Given the description of an element on the screen output the (x, y) to click on. 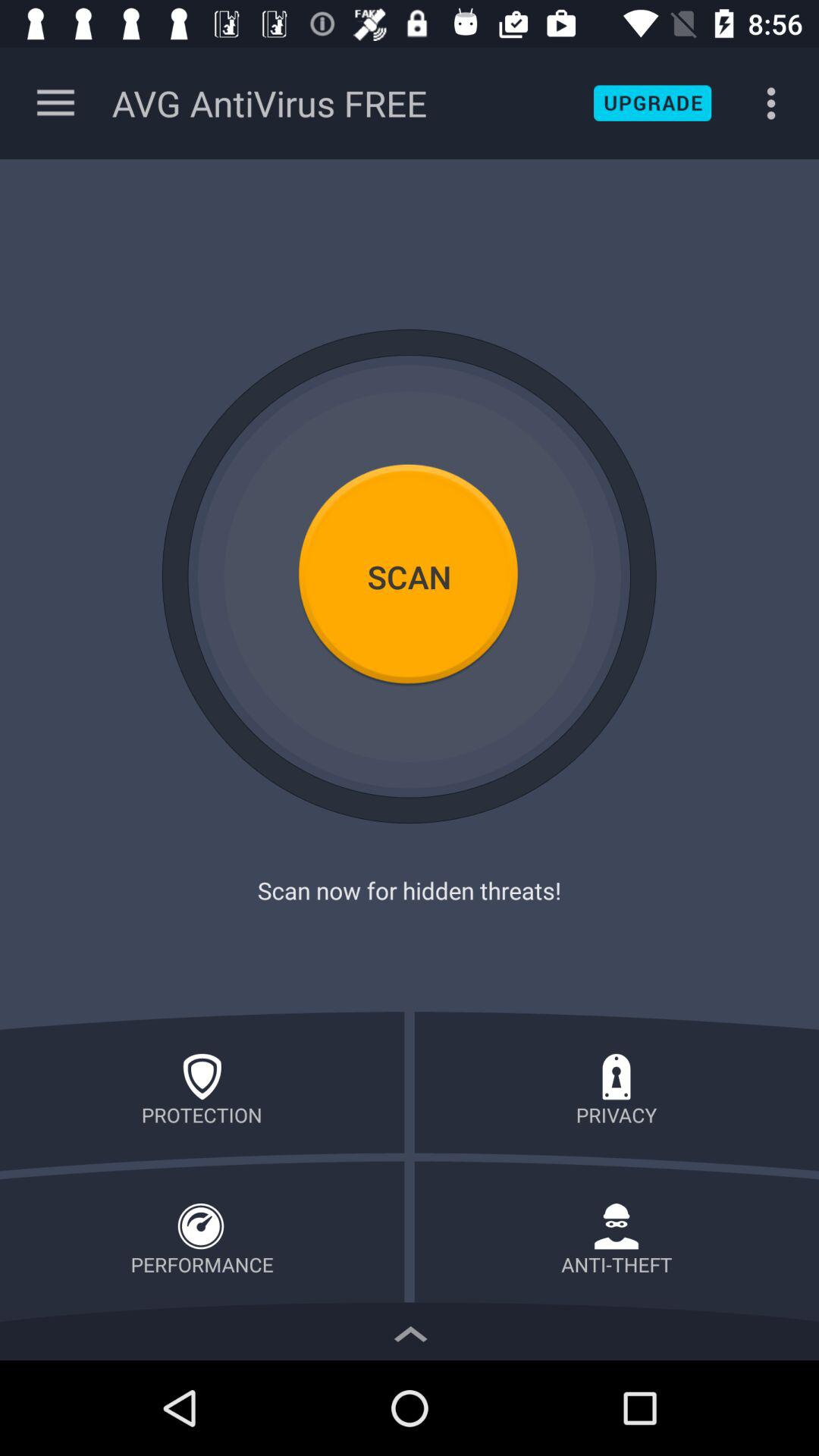
go to menu option (55, 103)
